Given the description of an element on the screen output the (x, y) to click on. 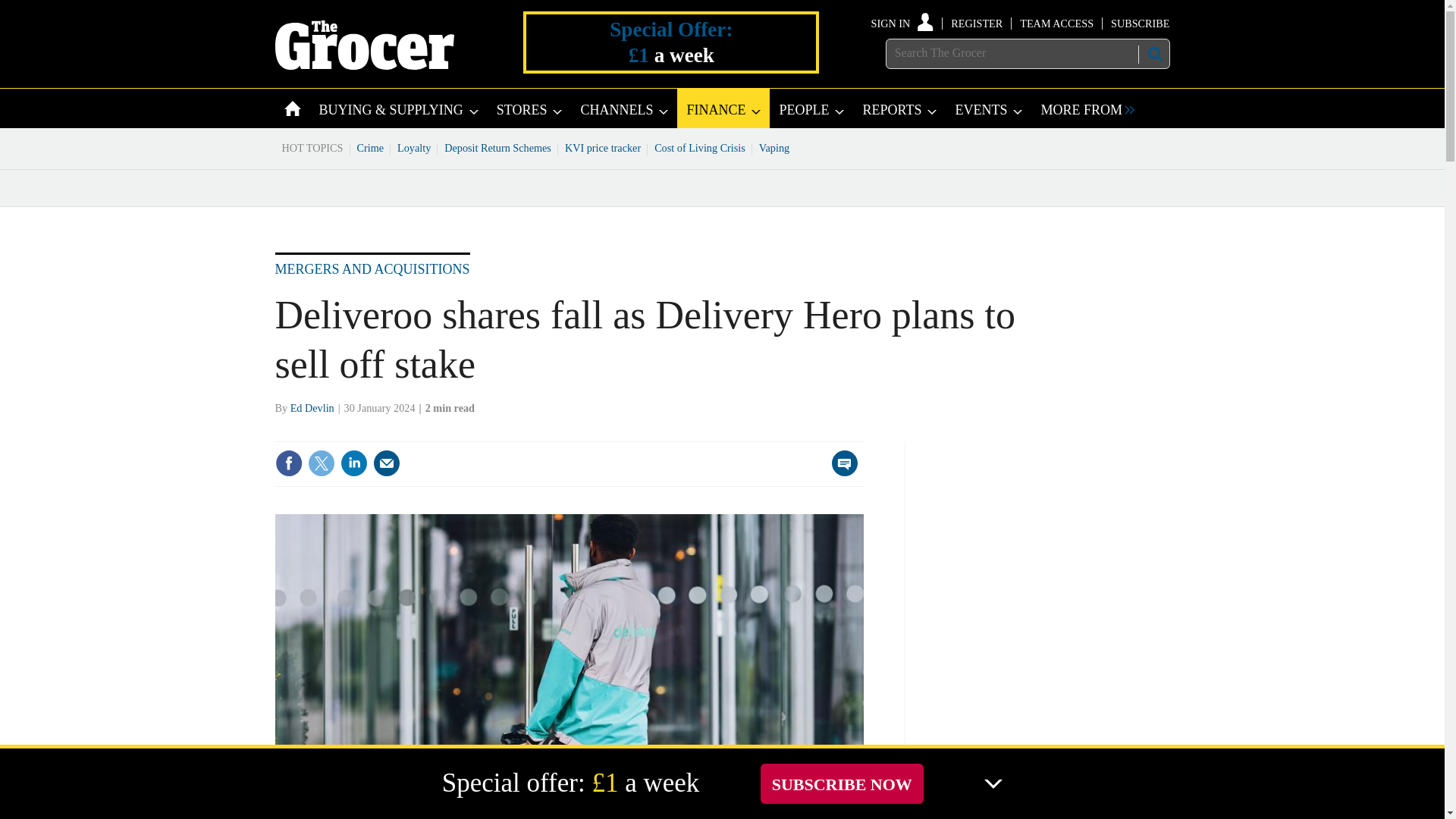
Share this on Linked in (352, 462)
Site name (363, 65)
KVI price tracker (602, 147)
Vaping (774, 147)
Cost of Living Crisis (699, 147)
Crime (370, 147)
No comments (840, 472)
Loyalty (414, 147)
SIGN IN (902, 23)
SEARCH (1153, 53)
SUBSCRIBE (1139, 23)
Share this on Facebook (288, 462)
Deposit Return Schemes (497, 147)
TEAM ACCESS (1056, 23)
Email this article (386, 462)
